Given the description of an element on the screen output the (x, y) to click on. 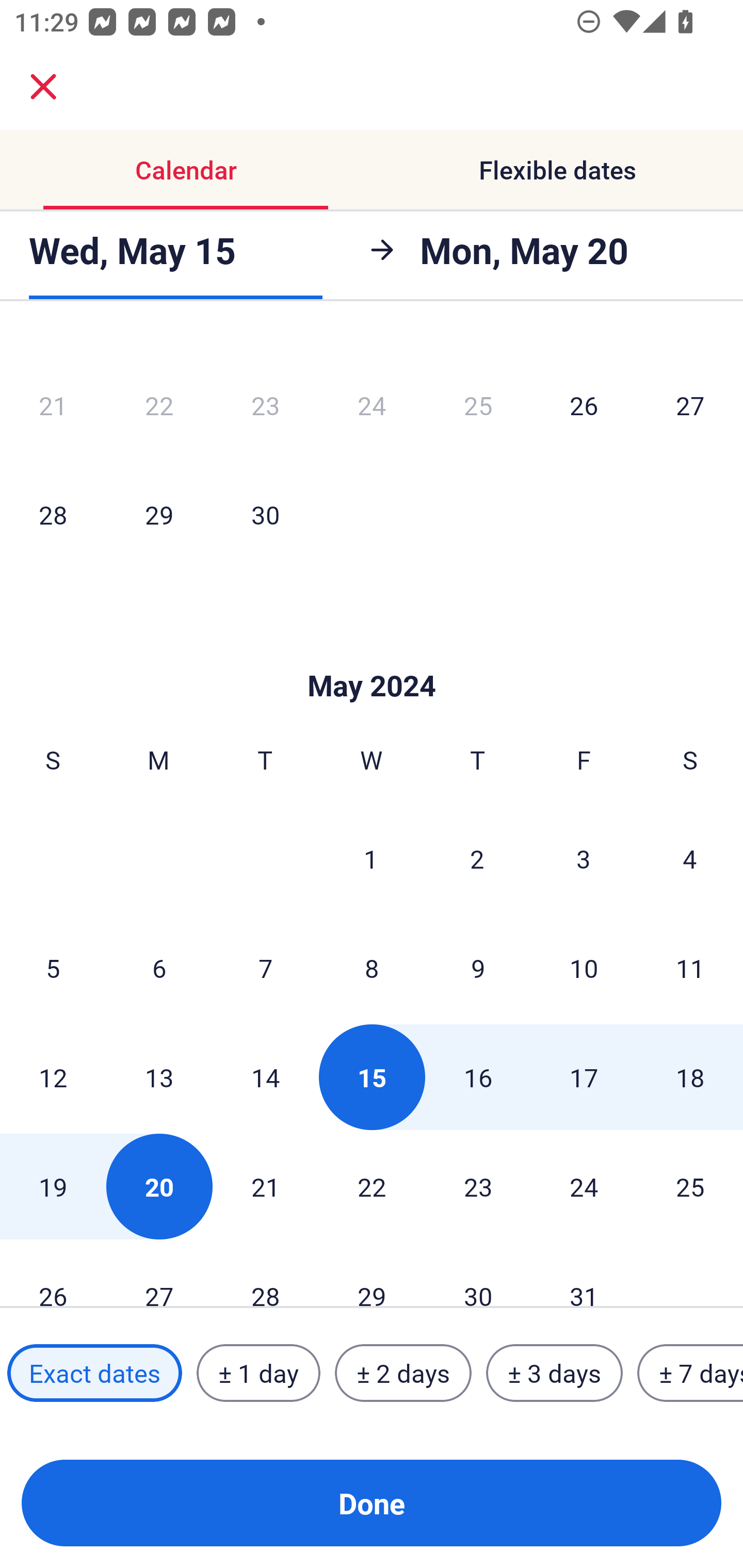
close. (43, 86)
Flexible dates (557, 170)
21 Sunday, April 21, 2024 (53, 404)
22 Monday, April 22, 2024 (159, 404)
23 Tuesday, April 23, 2024 (265, 404)
24 Wednesday, April 24, 2024 (371, 404)
25 Thursday, April 25, 2024 (477, 404)
26 Friday, April 26, 2024 (584, 404)
27 Saturday, April 27, 2024 (690, 404)
28 Sunday, April 28, 2024 (53, 513)
29 Monday, April 29, 2024 (159, 513)
30 Tuesday, April 30, 2024 (265, 513)
Skip to Done (371, 654)
1 Wednesday, May 1, 2024 (371, 858)
2 Thursday, May 2, 2024 (477, 858)
3 Friday, May 3, 2024 (583, 858)
4 Saturday, May 4, 2024 (689, 858)
5 Sunday, May 5, 2024 (53, 967)
6 Monday, May 6, 2024 (159, 967)
7 Tuesday, May 7, 2024 (265, 967)
8 Wednesday, May 8, 2024 (371, 967)
9 Thursday, May 9, 2024 (477, 967)
10 Friday, May 10, 2024 (584, 967)
11 Saturday, May 11, 2024 (690, 967)
12 Sunday, May 12, 2024 (53, 1076)
13 Monday, May 13, 2024 (159, 1076)
14 Tuesday, May 14, 2024 (265, 1076)
21 Tuesday, May 21, 2024 (265, 1185)
22 Wednesday, May 22, 2024 (371, 1185)
23 Thursday, May 23, 2024 (477, 1185)
24 Friday, May 24, 2024 (584, 1185)
25 Saturday, May 25, 2024 (690, 1185)
26 Sunday, May 26, 2024 (53, 1274)
27 Monday, May 27, 2024 (159, 1274)
28 Tuesday, May 28, 2024 (265, 1274)
29 Wednesday, May 29, 2024 (371, 1274)
30 Thursday, May 30, 2024 (477, 1274)
31 Friday, May 31, 2024 (584, 1274)
Exact dates (94, 1372)
± 1 day (258, 1372)
± 2 days (403, 1372)
± 3 days (553, 1372)
± 7 days (690, 1372)
Done (371, 1502)
